Given the description of an element on the screen output the (x, y) to click on. 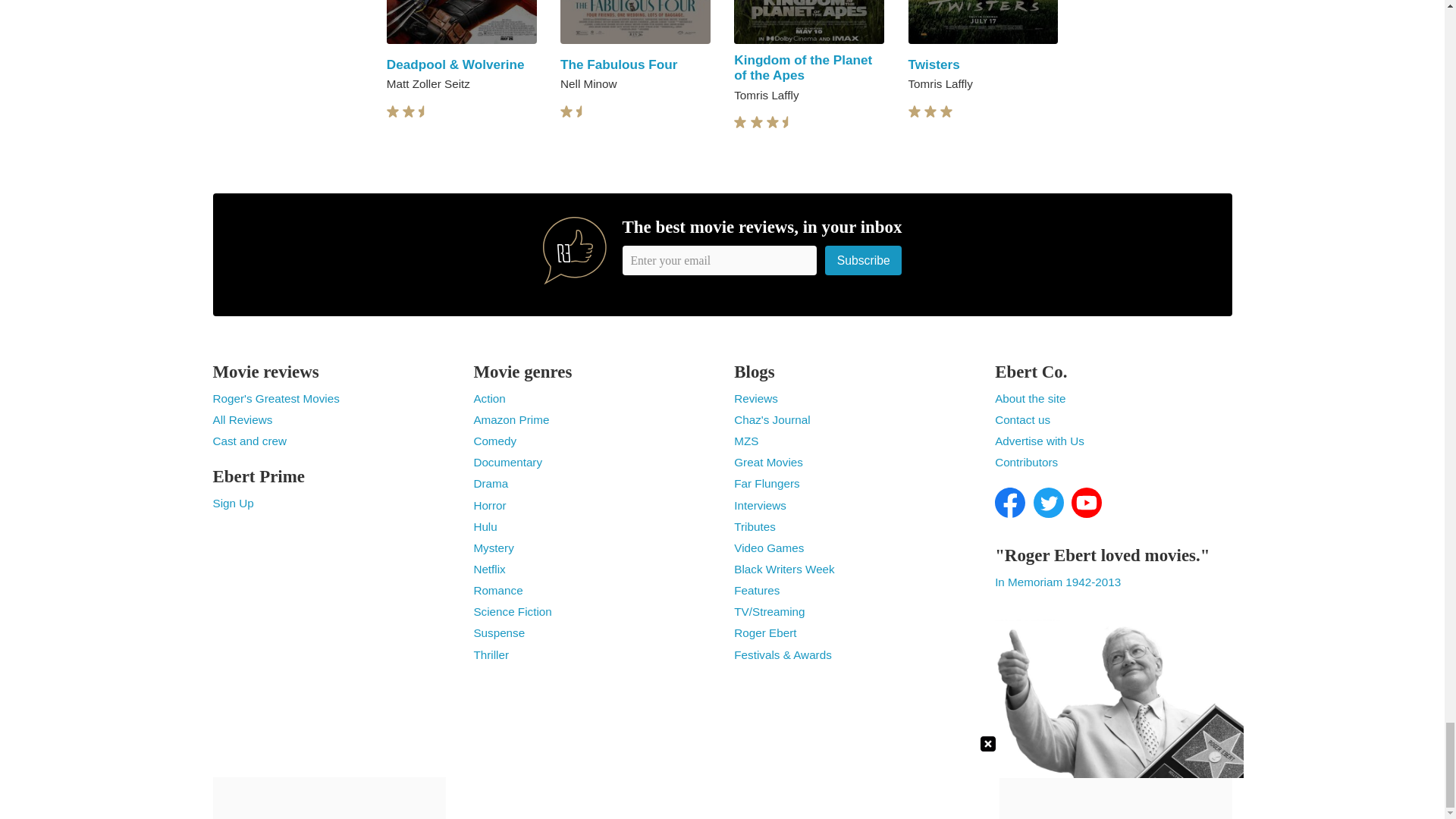
Subscribe (863, 260)
